Given the description of an element on the screen output the (x, y) to click on. 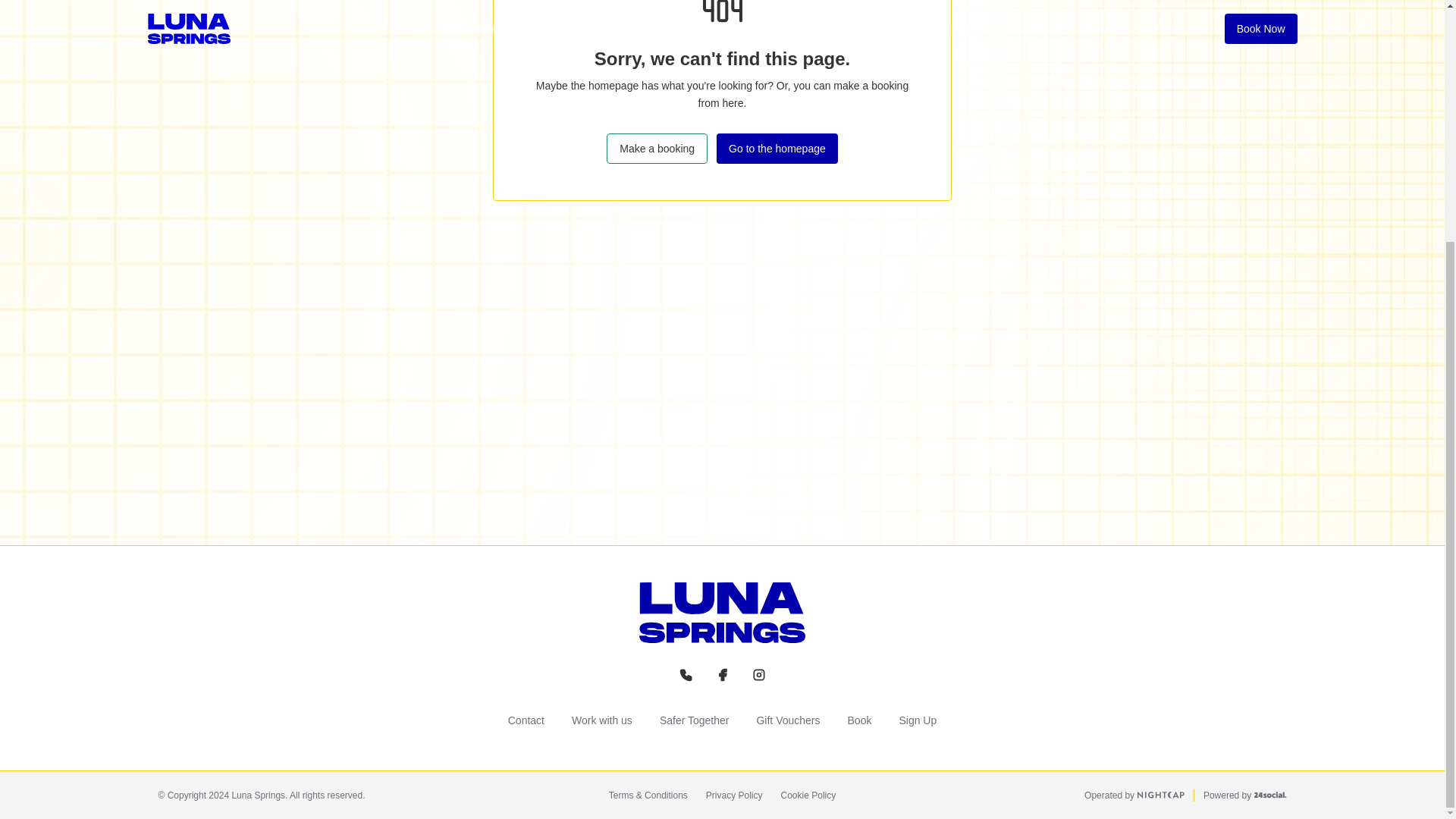
Sorry, we can't find this page. (722, 58)
Make a booking (657, 148)
Cookie Policy (808, 795)
Contact (526, 719)
Operated by (1134, 795)
Safer Together (694, 719)
Work with us (602, 719)
Sign Up (916, 719)
Gift Vouchers (787, 719)
Book (859, 719)
Powered by (1245, 795)
Privacy Policy (734, 795)
Go to the homepage (777, 148)
